Given the description of an element on the screen output the (x, y) to click on. 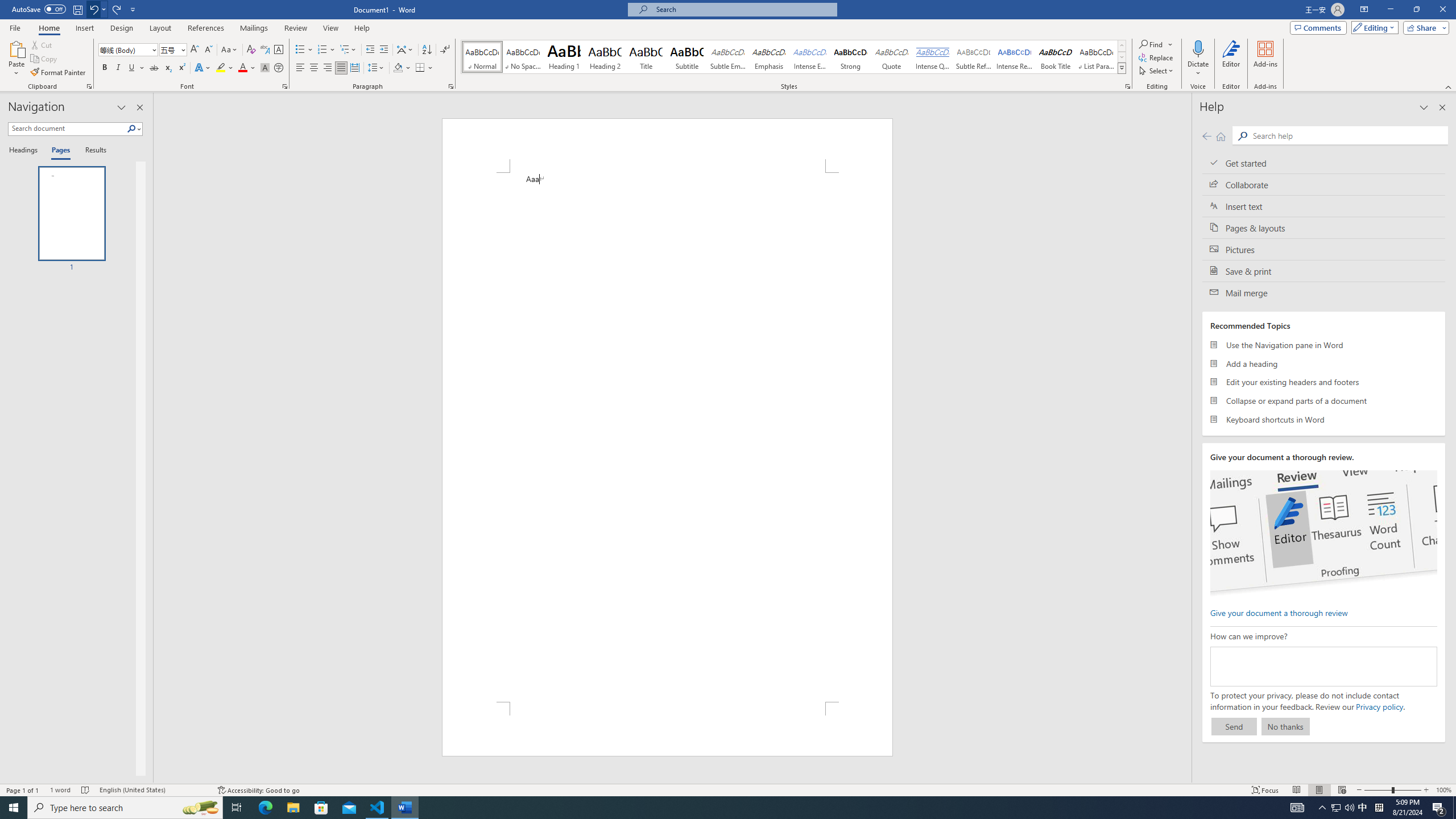
Asian Layout (405, 49)
Page Number Page 1 of 1 (22, 790)
Format Painter (58, 72)
Save & print (1323, 270)
Redo Apply Quick Style (117, 9)
Row up (1121, 45)
Show/Hide Editing Marks (444, 49)
Bold (104, 67)
Accessibility Checker Accessibility: Good to go (258, 790)
Text Highlight Color (224, 67)
